Given the description of an element on the screen output the (x, y) to click on. 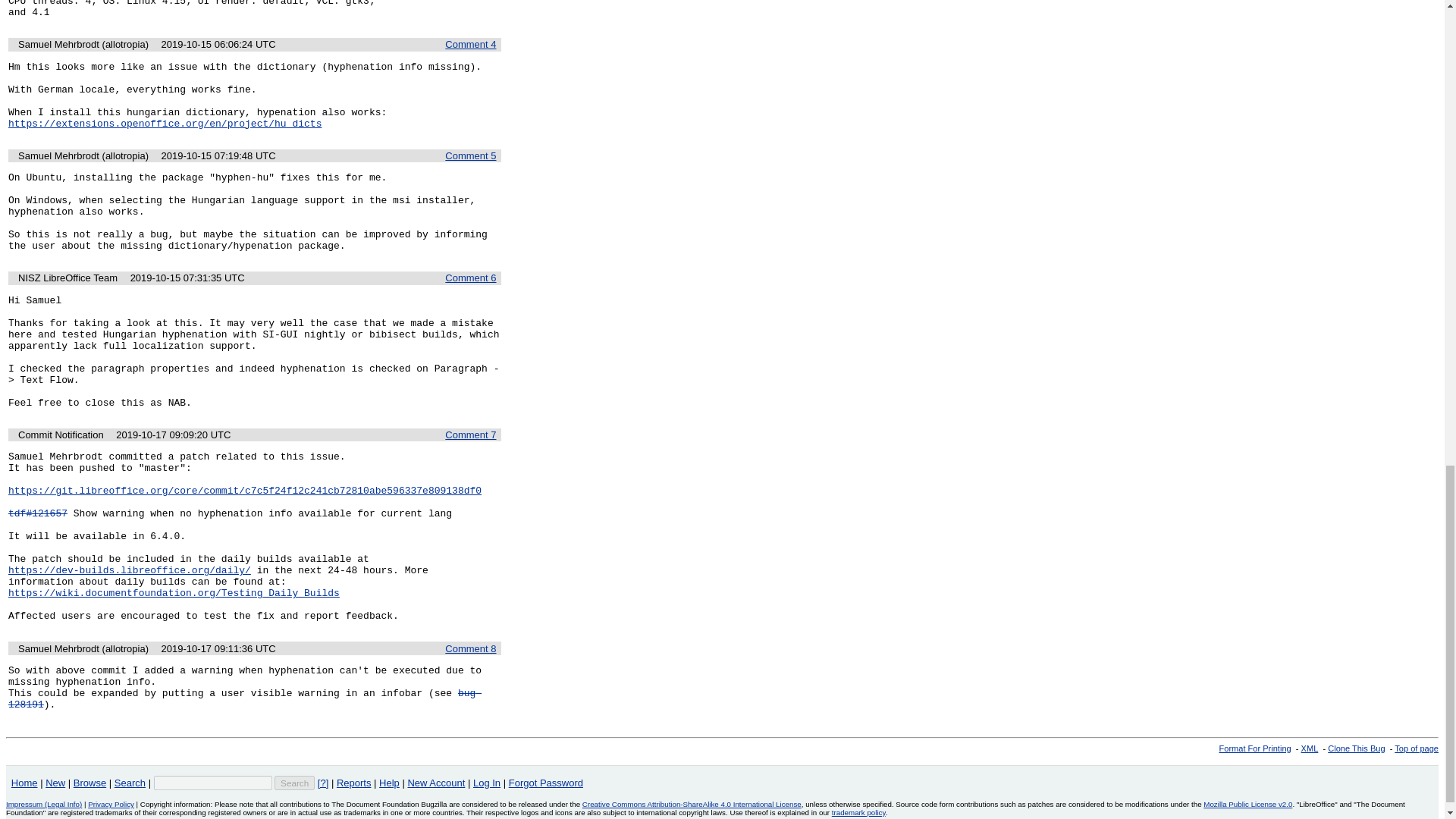
Search (294, 782)
